Given the description of an element on the screen output the (x, y) to click on. 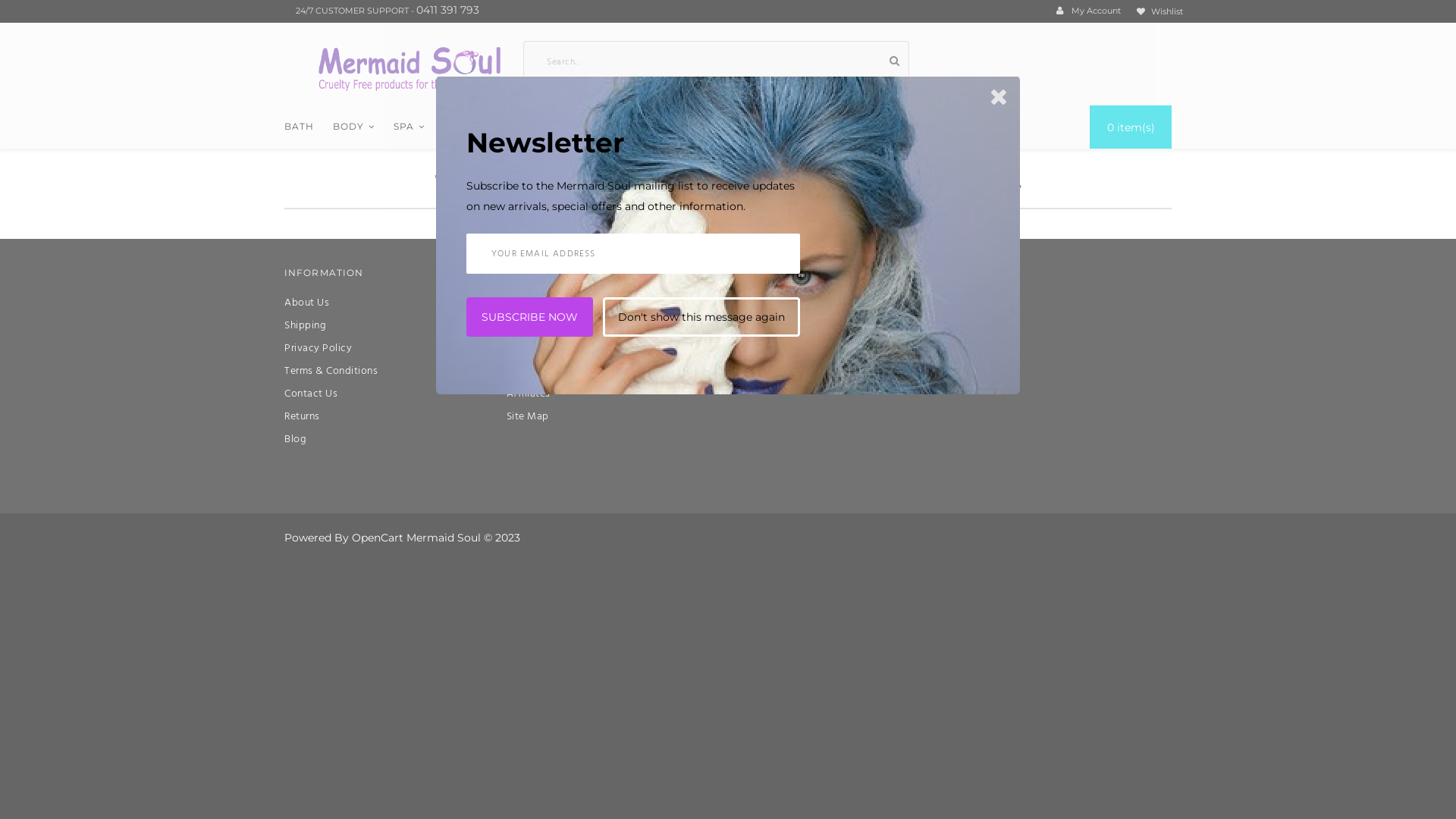
Affiliates Element type: text (528, 394)
Terms & Conditions Element type: text (330, 371)
Returns Element type: text (302, 417)
BODY Element type: text (353, 126)
Shipping Element type: text (305, 326)
Privacy Policy Element type: text (317, 348)
SUBSCRIBE NOW
SUBSCRIBE NOW Element type: text (529, 316)
Robina, Gold Coast, Queensland Element type: text (806, 303)
Contact Us Element type: text (310, 394)
Find a Wish List Element type: text (543, 348)
Mermaid Soul Element type: hover (409, 68)
Gift Certificates Element type: text (544, 371)
prue@mermaidsoul.com.au Element type: text (793, 358)
BATH Element type: text (298, 126)
PALM OIL FREE Element type: text (578, 126)
0411 391 793 Element type: text (447, 9)
HAIR Element type: text (504, 126)
SPA Element type: text (408, 126)
Blog Element type: text (295, 439)
GIFT PACKS Element type: text (755, 126)
Site Map Element type: text (527, 417)
0411 391 793 Element type: text (755, 331)
FRAGRANCE Element type: text (672, 126)
About Us Element type: text (306, 303)
My Account Element type: text (1088, 10)
FACE Element type: text (457, 126)
Don't show this message again Element type: text (701, 316)
Order History Element type: text (538, 326)
Wishlist Element type: text (1159, 11)
OpenCart Element type: text (377, 537)
0 item(s) Element type: text (1130, 126)
My Account Element type: text (535, 303)
